Given the description of an element on the screen output the (x, y) to click on. 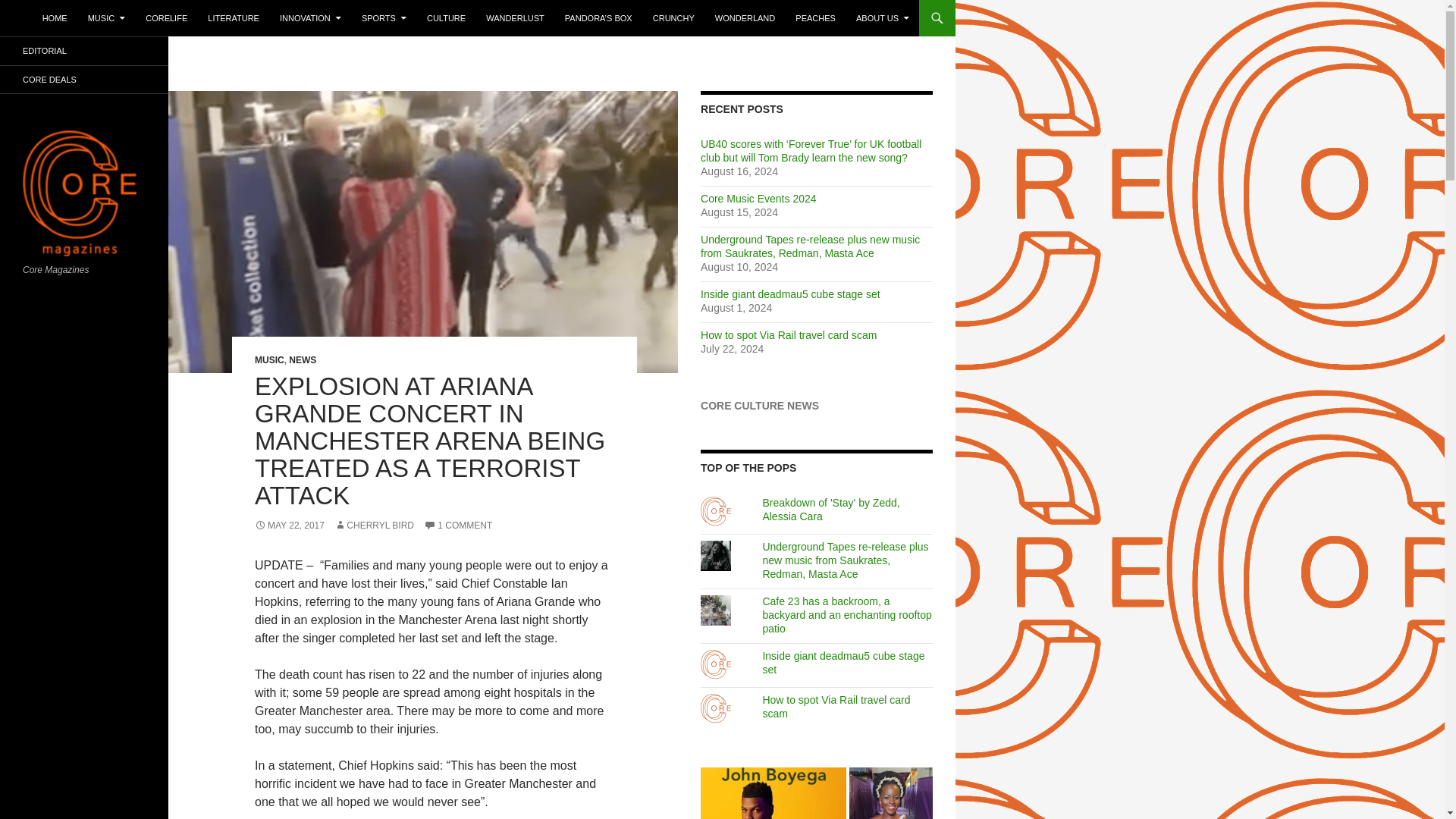
NEWS (301, 359)
CORELIFE (166, 18)
LITERATURE (232, 18)
MAY 22, 2017 (289, 525)
INNOVATION (310, 18)
MUSIC (268, 359)
SPORTS (383, 18)
WANDERLUST (515, 18)
Breakdown of 'Stay' by Zedd, Alessia Cara (830, 509)
WONDERLAND (745, 18)
